Given the description of an element on the screen output the (x, y) to click on. 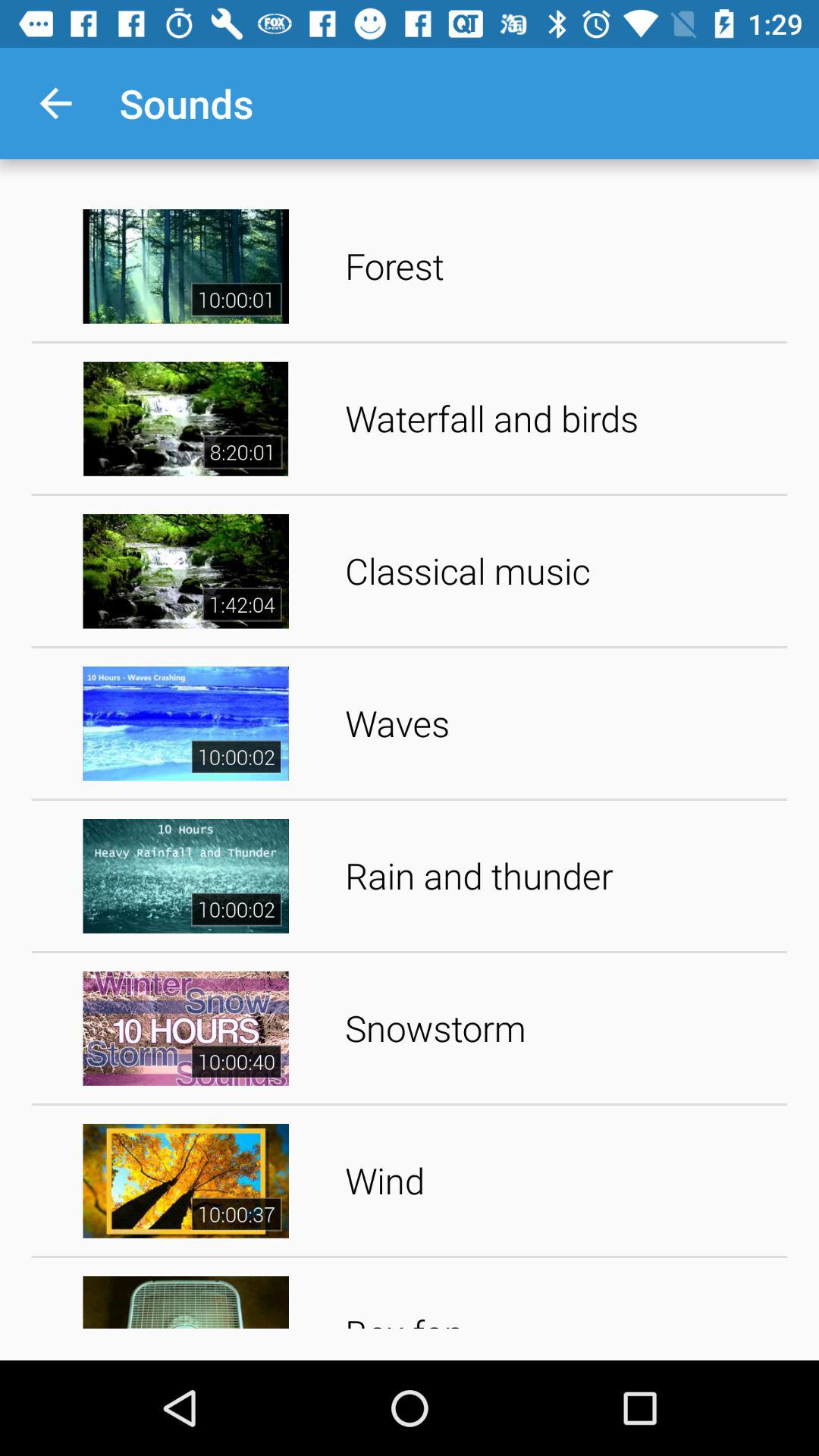
turn off the waterfall and birds app (560, 418)
